Given the description of an element on the screen output the (x, y) to click on. 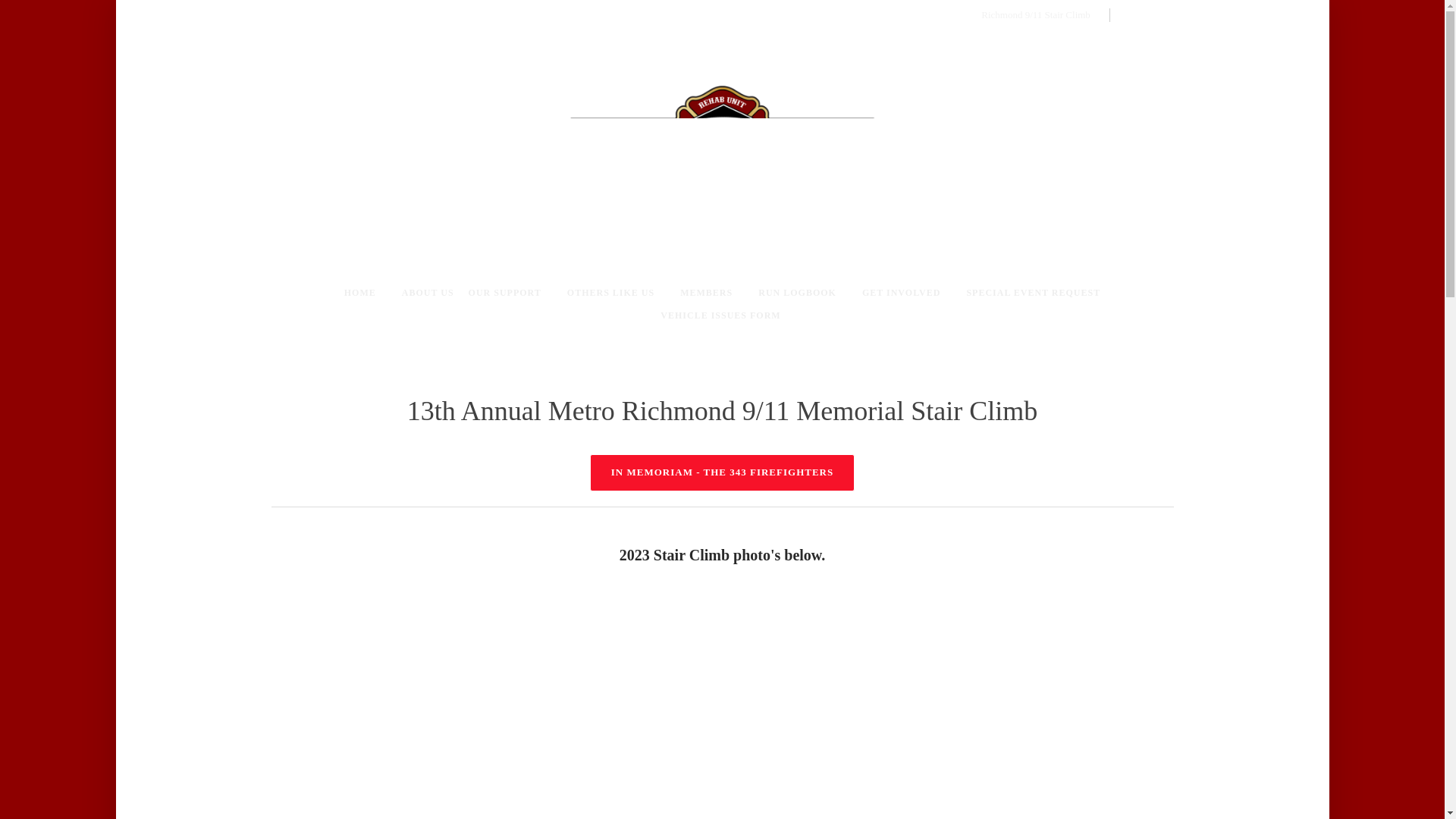
HOME (360, 294)
SPECIAL EVENT REQUEST (1033, 294)
GET INVOLVED (901, 294)
RUN LOGBOOK (796, 294)
IN MEMORIAM - THE 343 FIREFIGHTERS (721, 472)
OUR SUPPORT (505, 294)
OTHERS LIKE US (610, 294)
MEMBERS (706, 294)
ABOUT US (422, 294)
VEHICLE ISSUES FORM  (721, 316)
